Given the description of an element on the screen output the (x, y) to click on. 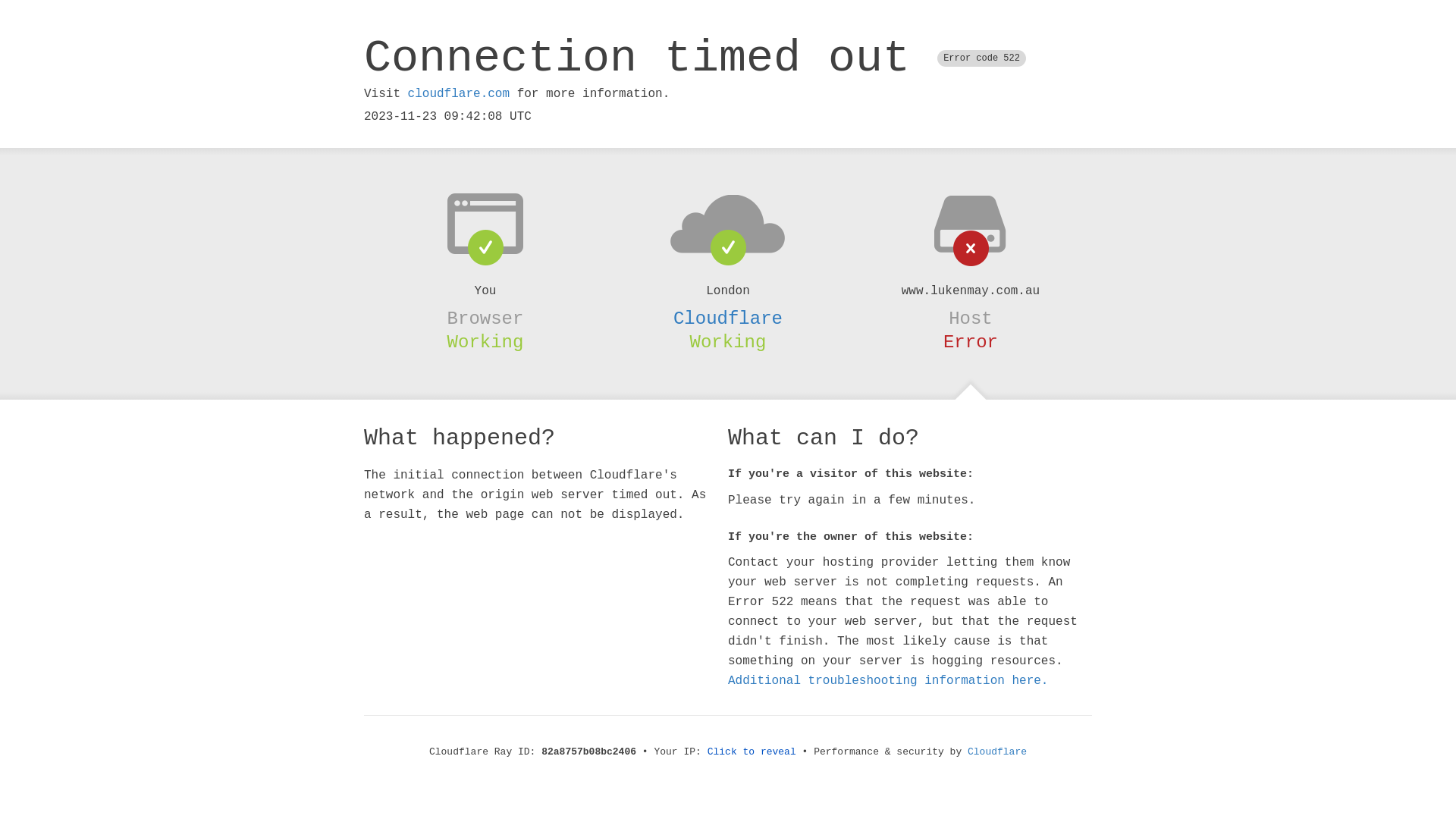
Cloudflare Element type: text (996, 751)
Click to reveal Element type: text (751, 751)
Cloudflare Element type: text (727, 318)
cloudflare.com Element type: text (458, 93)
Additional troubleshooting information here. Element type: text (888, 680)
